Given the description of an element on the screen output the (x, y) to click on. 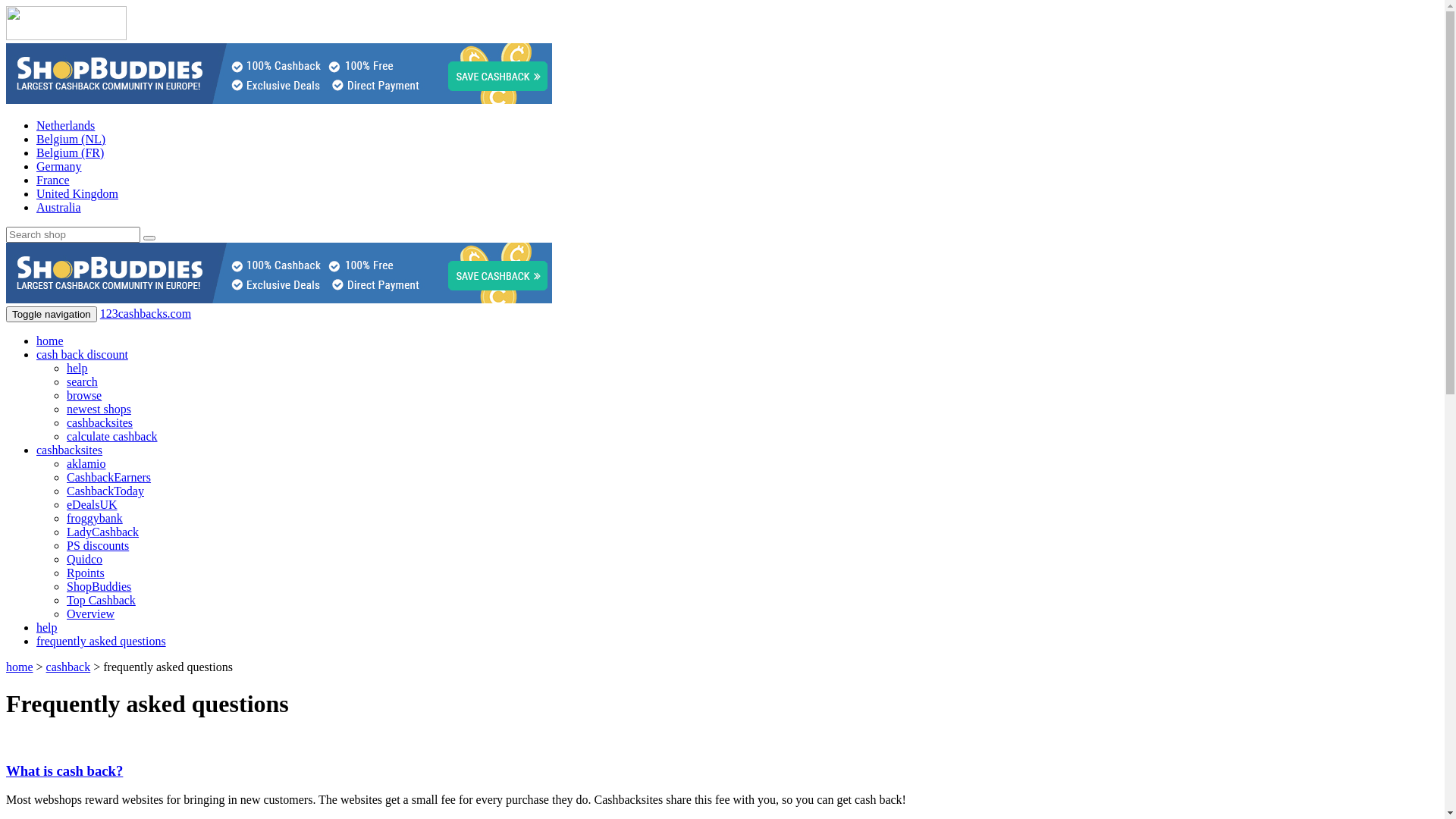
aklamio Element type: text (86, 463)
Belgium (FR) Element type: text (69, 152)
LadyCashback Element type: text (102, 531)
frequently asked questions Element type: text (101, 640)
cashbacksites Element type: text (69, 449)
Germany Element type: text (58, 166)
home Element type: text (19, 666)
home Element type: text (49, 340)
ShopBuddies.co.uk - 100% Cashback Element type: hover (279, 73)
browse Element type: text (83, 395)
Rpoints Element type: text (85, 572)
help Element type: text (76, 367)
newest shops Element type: text (98, 408)
PS discounts Element type: text (97, 545)
Australia Element type: text (58, 206)
Netherlands Element type: text (65, 125)
calculate cashback Element type: text (111, 435)
cashbacksites Element type: text (99, 422)
eDealsUK Element type: text (91, 504)
CashbackToday Element type: text (105, 490)
search Element type: text (81, 381)
help Element type: text (46, 627)
What is cash back? Element type: text (64, 770)
froggybank Element type: text (94, 517)
123cashbacks.com Element type: text (145, 313)
France Element type: text (52, 179)
CashbackEarners Element type: text (108, 476)
ShopBuddies Element type: text (98, 586)
Overview Element type: text (90, 613)
Toggle navigation Element type: text (51, 314)
cashback Element type: text (68, 666)
United Kingdom Element type: text (77, 193)
cash back discount Element type: text (82, 354)
Belgium (NL) Element type: text (70, 138)
ShopBuddies.co.uk - 100% Cashback Element type: hover (279, 272)
Top Cashback Element type: text (100, 599)
Quidco Element type: text (84, 558)
